Given the description of an element on the screen output the (x, y) to click on. 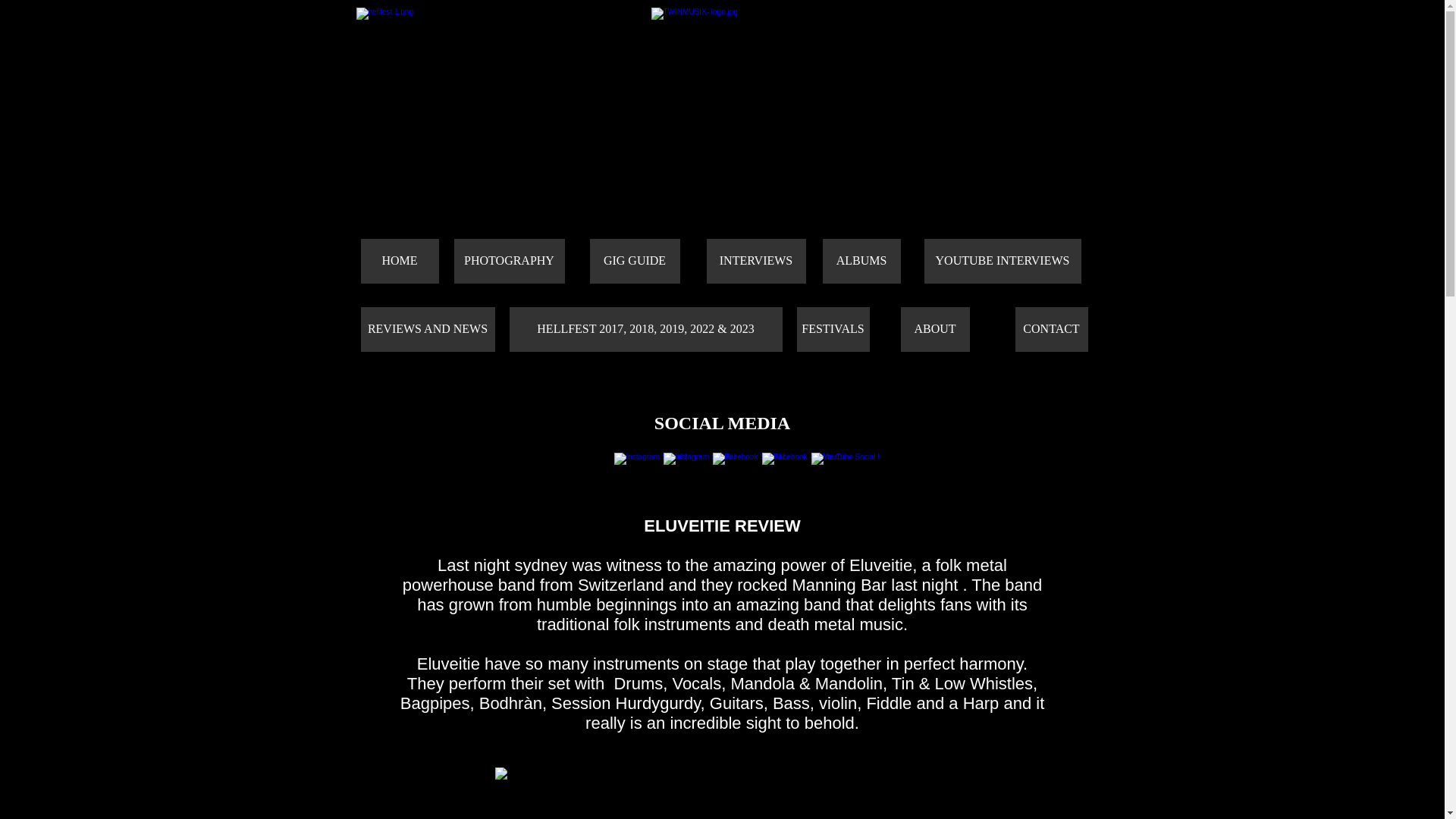
GIG GUIDE (634, 261)
HOME (400, 261)
INTERVIEWS (756, 261)
PHOTOGRAPHY (508, 261)
FESTIVALS (832, 329)
REVIEWS AND NEWS (428, 329)
CONTACT (1050, 329)
YOUTUBE INTERVIEWS (1001, 261)
ALBUMS (860, 261)
ABOUT (935, 329)
